Given the description of an element on the screen output the (x, y) to click on. 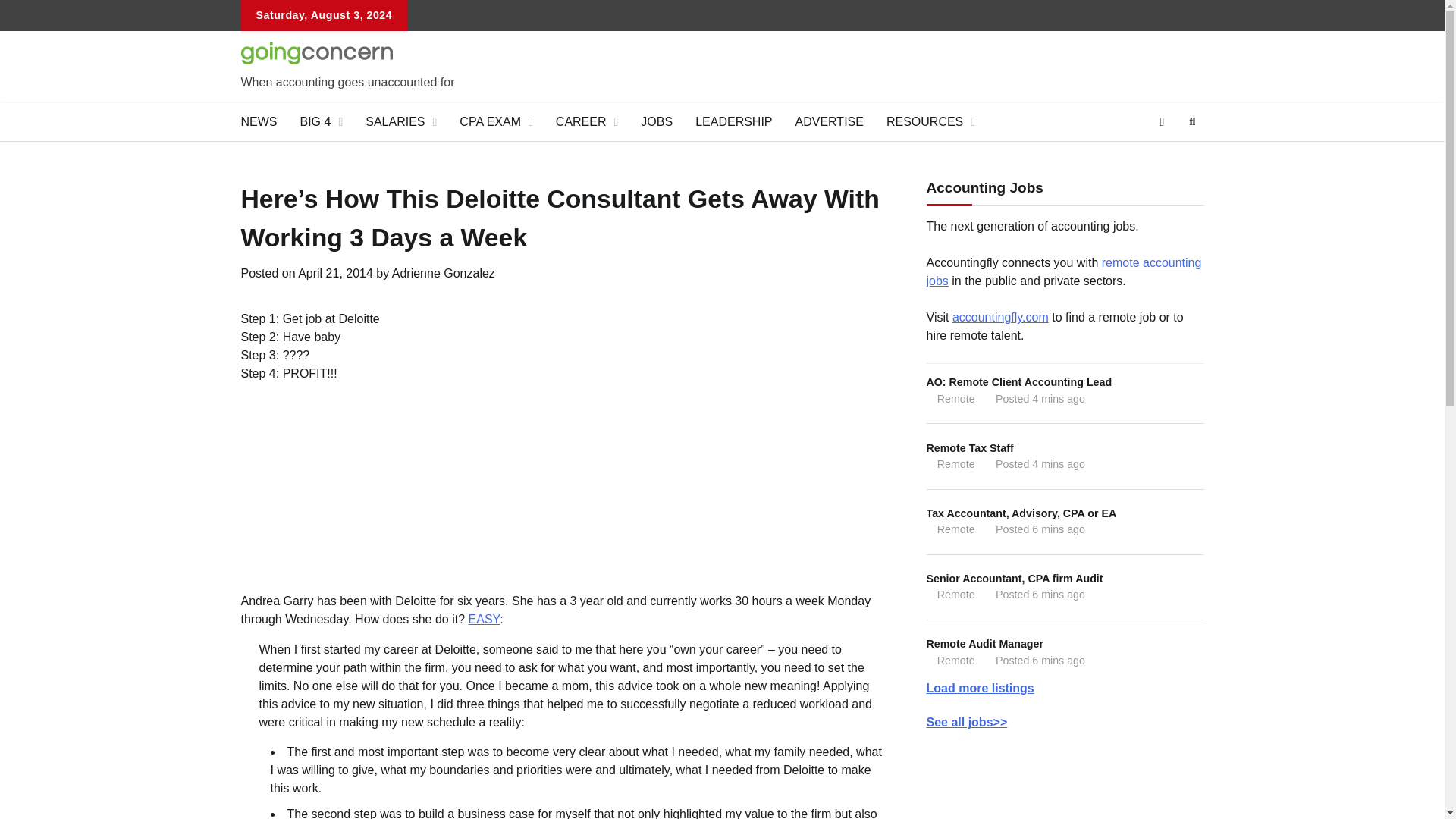
SALARIES (400, 121)
RESOURCES (931, 121)
ADVERTISE (829, 121)
April 21, 2014 (335, 273)
CPA EXAM (495, 121)
Search (1192, 121)
Adrienne Gonzalez (443, 273)
Search (1164, 157)
NEWS (258, 121)
BIG 4 (320, 121)
CAREER (587, 121)
View Random Post (1162, 121)
JOBS (656, 121)
EASY (484, 618)
LEADERSHIP (733, 121)
